Given the description of an element on the screen output the (x, y) to click on. 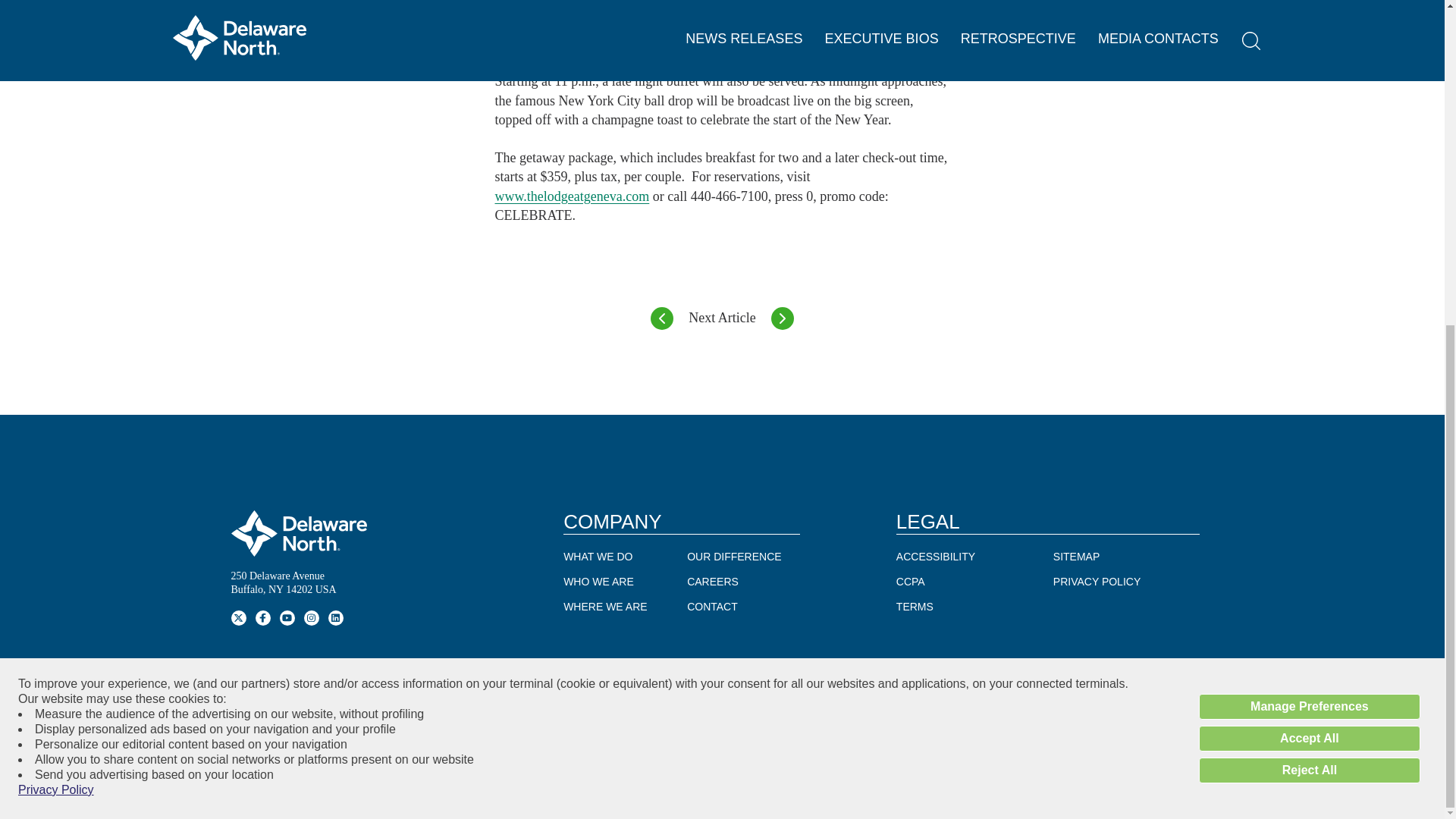
SITEMAP (1075, 557)
Accept All (1309, 206)
CAREERS (712, 582)
OUR DIFFERENCE (733, 557)
CCPA (910, 582)
ACCESSIBILITY (935, 557)
CONTACT (712, 607)
Manage Preferences (1309, 174)
Privacy Policy (55, 257)
WHAT WE DO (597, 557)
